Given the description of an element on the screen output the (x, y) to click on. 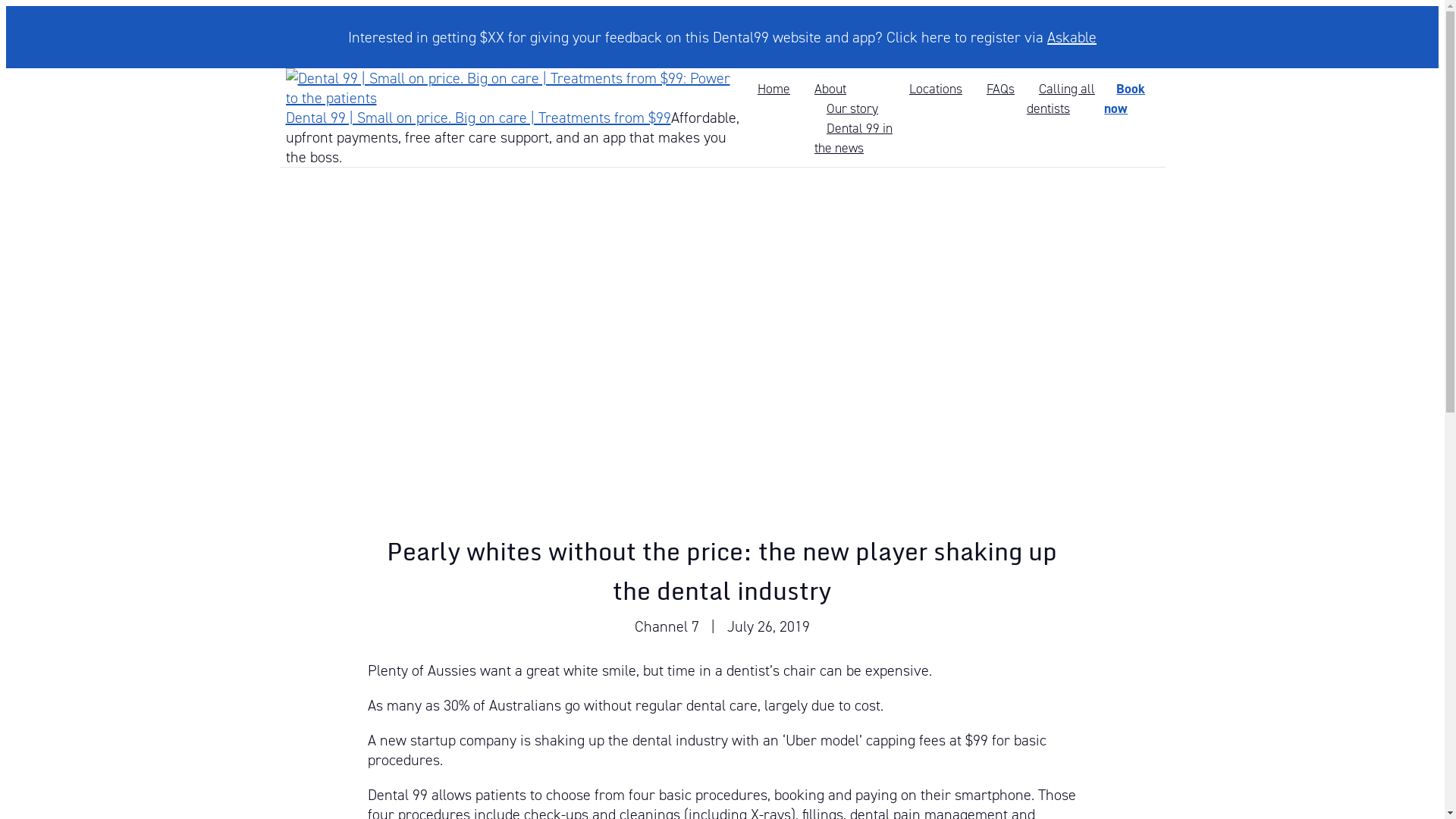
Home Element type: text (773, 88)
Dental 99 in the news Element type: text (853, 137)
FAQs Element type: text (1000, 88)
Askable Element type: text (1071, 37)
Calling all dentists Element type: text (1060, 98)
Book now Element type: text (1124, 98)
Our story Element type: text (852, 108)
Locations Element type: text (935, 88)
About Element type: text (830, 88)
